Given the description of an element on the screen output the (x, y) to click on. 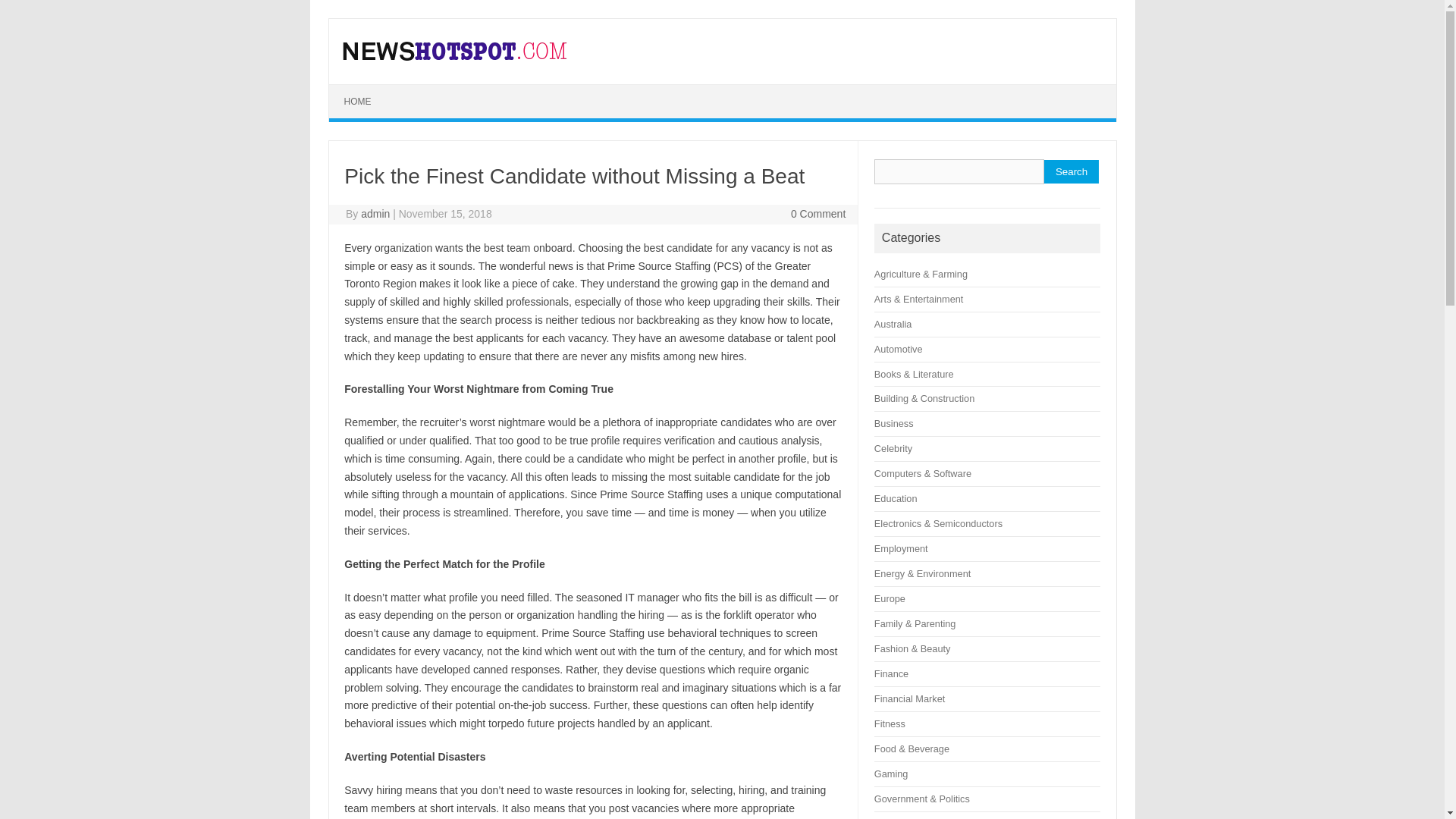
Employment (901, 548)
Search (1070, 171)
HOME (358, 101)
Celebrity (893, 448)
admin (375, 214)
Search (1070, 171)
Fitness (890, 723)
News Hot Spot (454, 58)
Australia (893, 324)
Skip to content (363, 89)
Automotive (899, 348)
0 Comment (817, 214)
Financial Market (909, 698)
Finance (891, 673)
Gaming (891, 773)
